Given the description of an element on the screen output the (x, y) to click on. 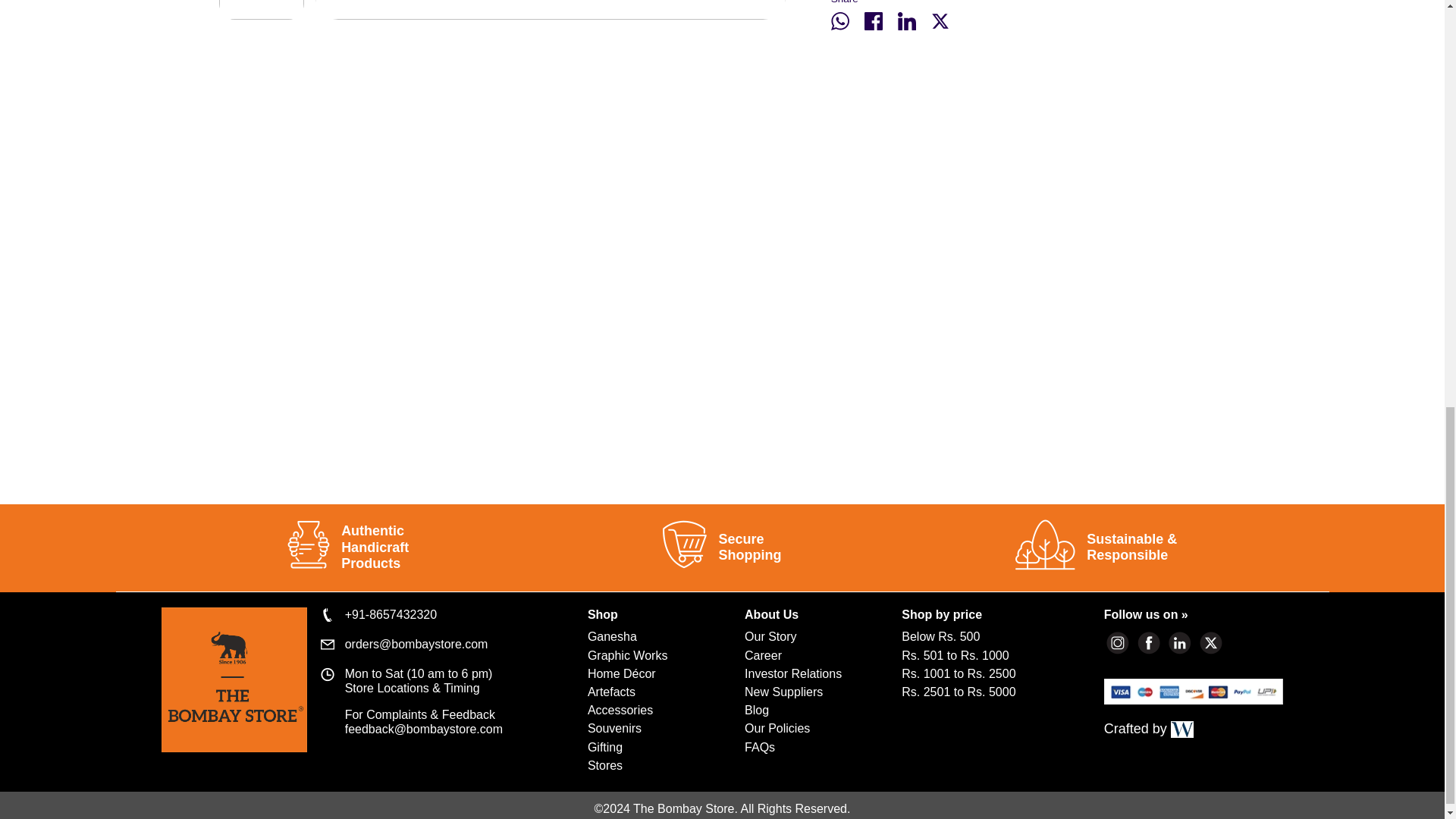
Water Communications (1181, 729)
